Given the description of an element on the screen output the (x, y) to click on. 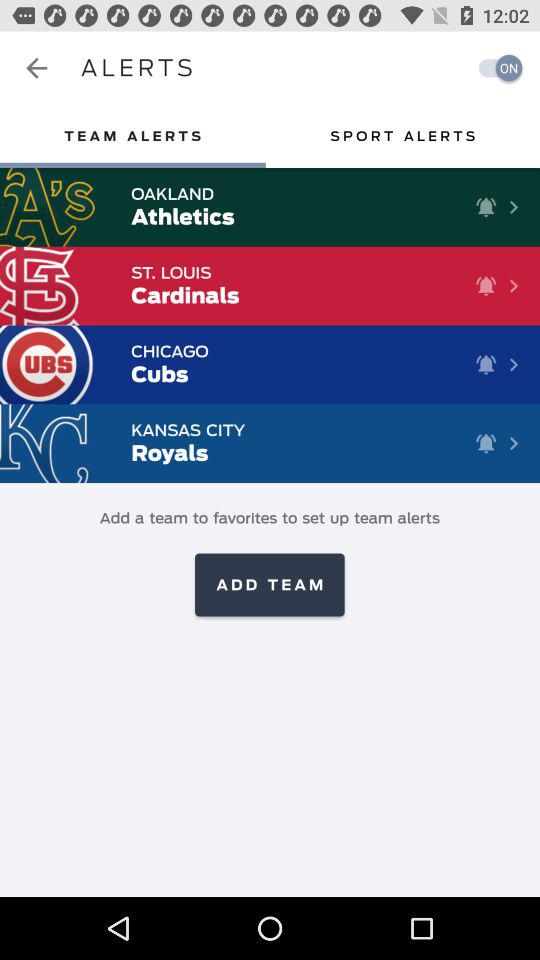
open the app next to the alerts app (495, 67)
